Given the description of an element on the screen output the (x, y) to click on. 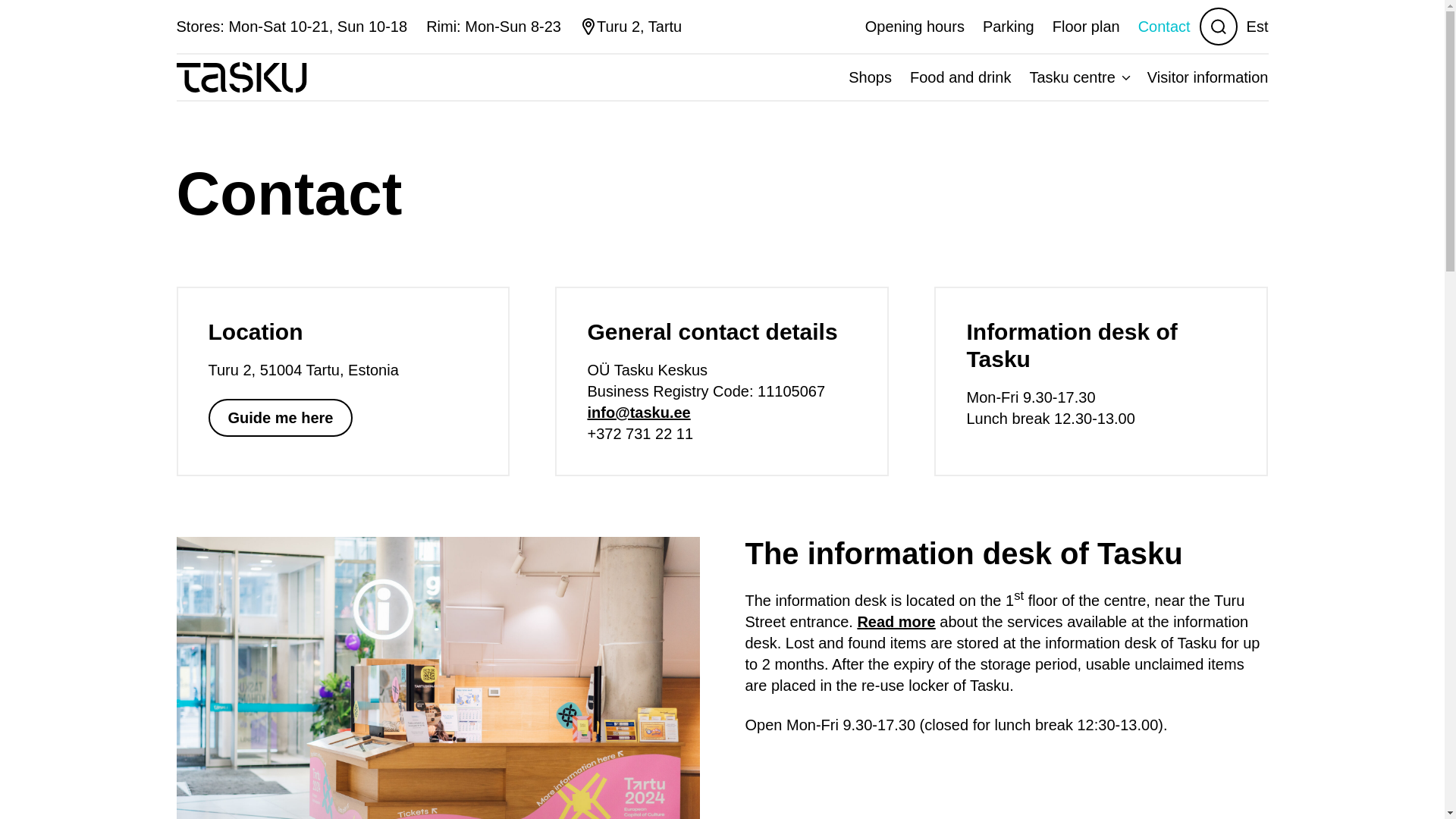
Parking (1008, 25)
Est (1257, 26)
Food and drink (960, 76)
Opening hours (915, 25)
Floor plan (1086, 25)
Read more (895, 621)
Contact (1160, 25)
Shops (870, 76)
Guide me here (280, 417)
Tasku centre (1078, 76)
Visitor information (1203, 76)
